Given the description of an element on the screen output the (x, y) to click on. 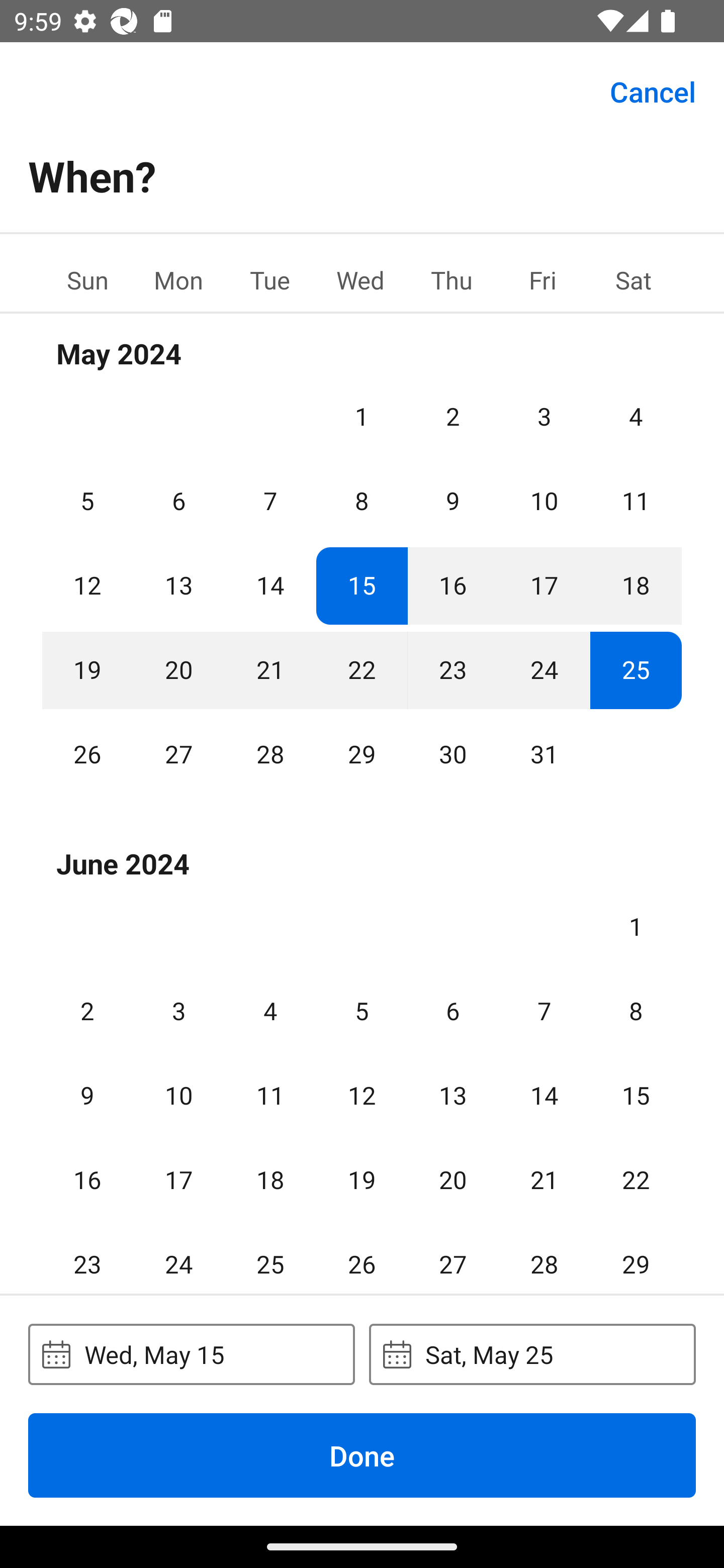
Cancel (652, 90)
Wed, May 15 (191, 1353)
Sat, May 25 (532, 1353)
Done (361, 1454)
